Given the description of an element on the screen output the (x, y) to click on. 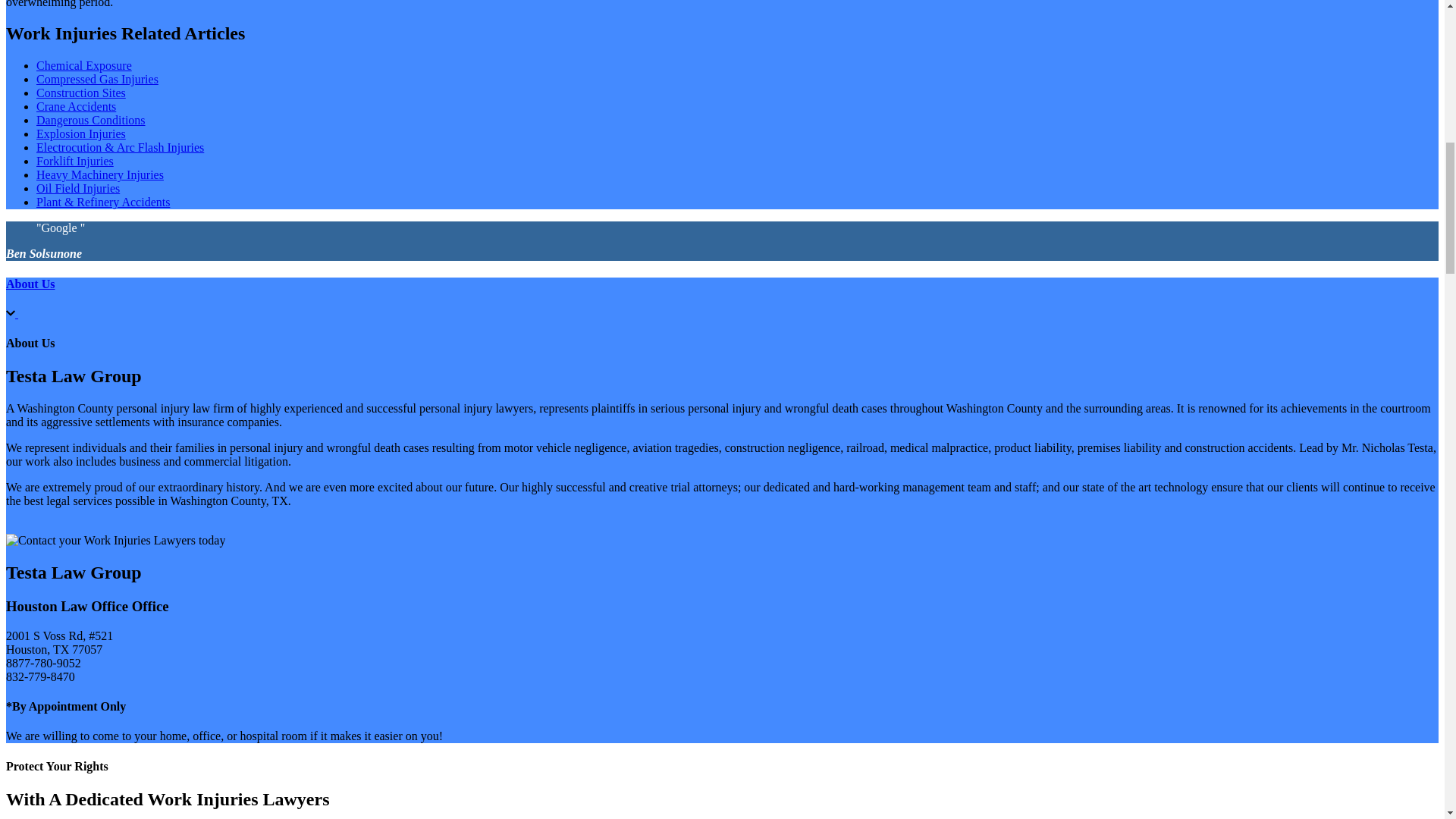
Dangerous Conditions (90, 119)
Explosion Injuries (80, 133)
Forklift Injuries (74, 160)
Crane Accidents (76, 106)
Compressed Gas Injuries (97, 78)
Oil Field Injuries (77, 187)
Construction Sites (80, 92)
Heavy Machinery Injuries (99, 174)
Chemical Exposure (84, 65)
